Given the description of an element on the screen output the (x, y) to click on. 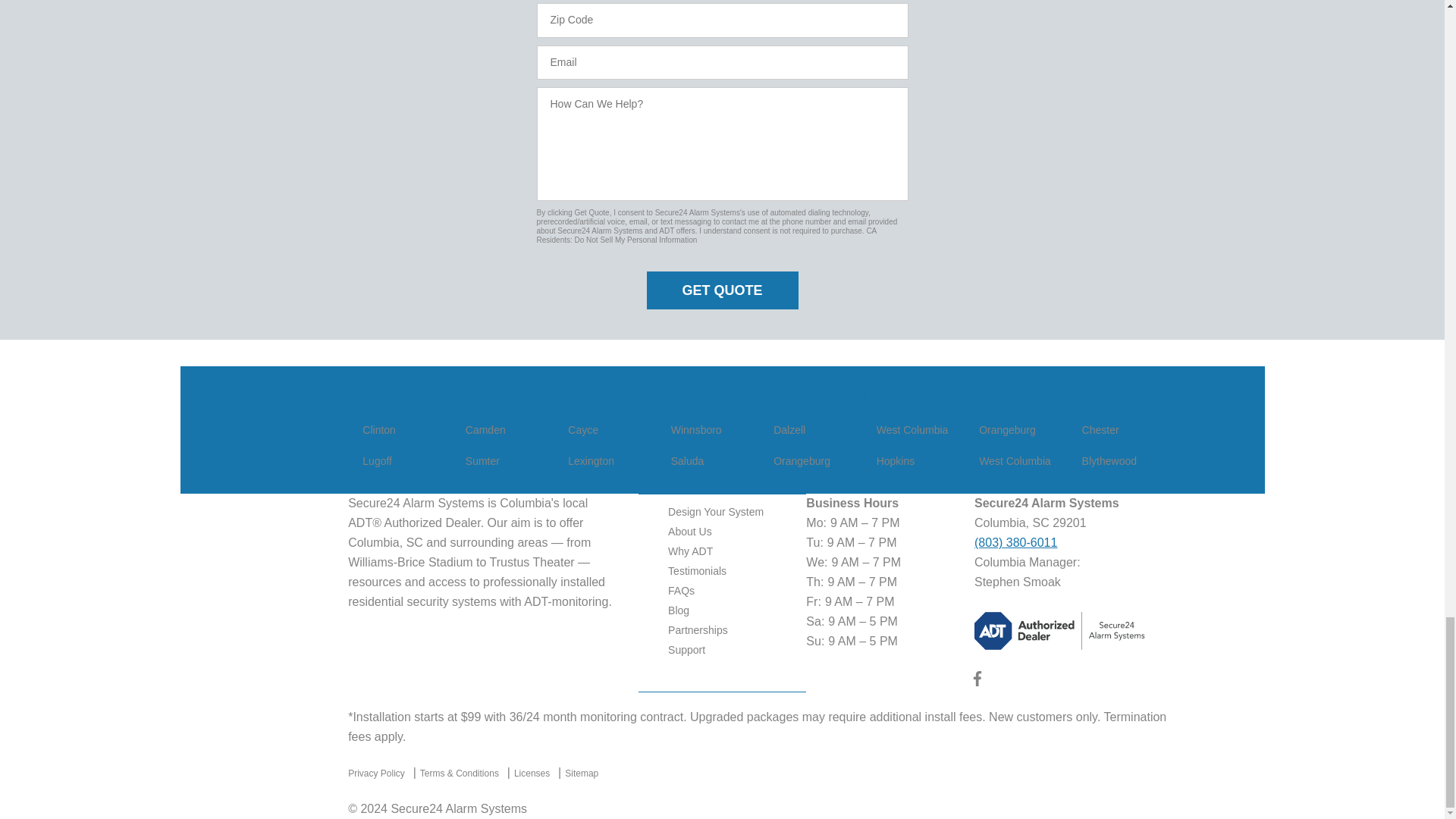
GET QUOTE (721, 290)
Like us on Facebook (977, 681)
